Given the description of an element on the screen output the (x, y) to click on. 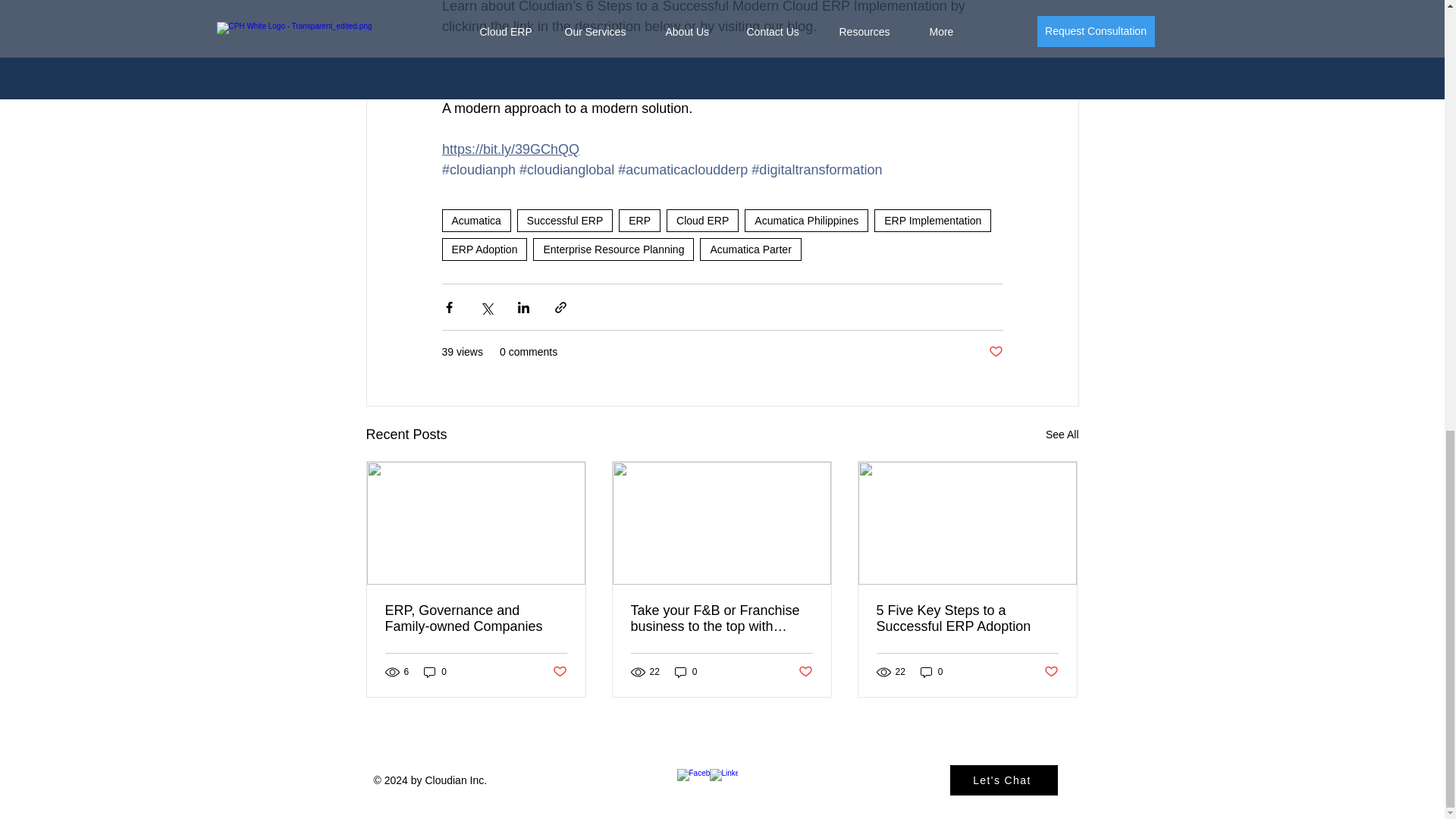
Acumatica Philippines (805, 220)
ERP Implementation (933, 220)
Acumatica Parter (750, 249)
ERP Adoption (484, 249)
Enterprise Resource Planning (613, 249)
Cloud ERP (702, 220)
ERP (639, 220)
Successful ERP (564, 220)
Acumatica (476, 220)
